Given the description of an element on the screen output the (x, y) to click on. 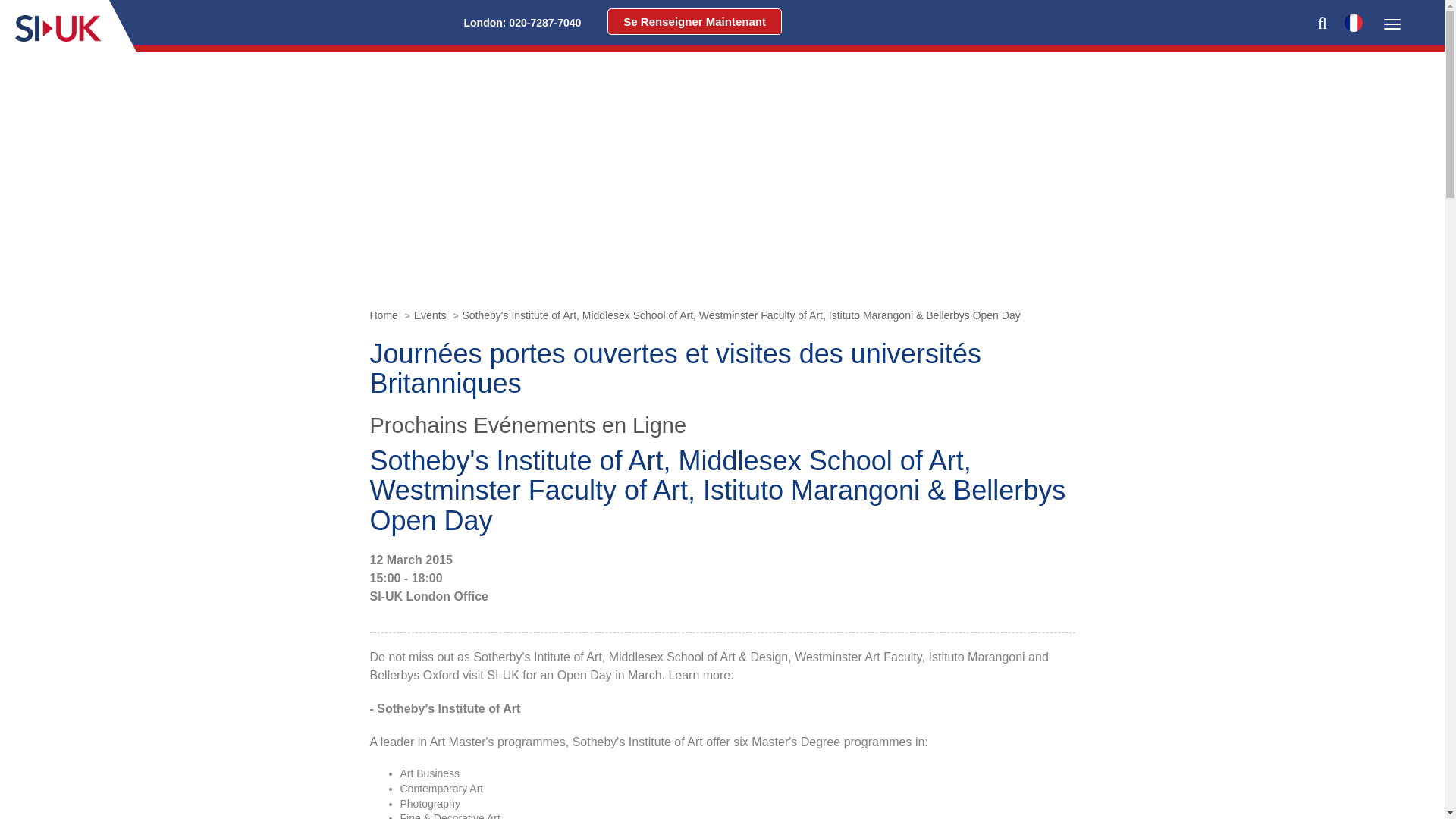
London: 020-7287-7040 (522, 22)
Se Renseigner Maintenant (694, 21)
Toggle navigation (1392, 23)
